Given the description of an element on the screen output the (x, y) to click on. 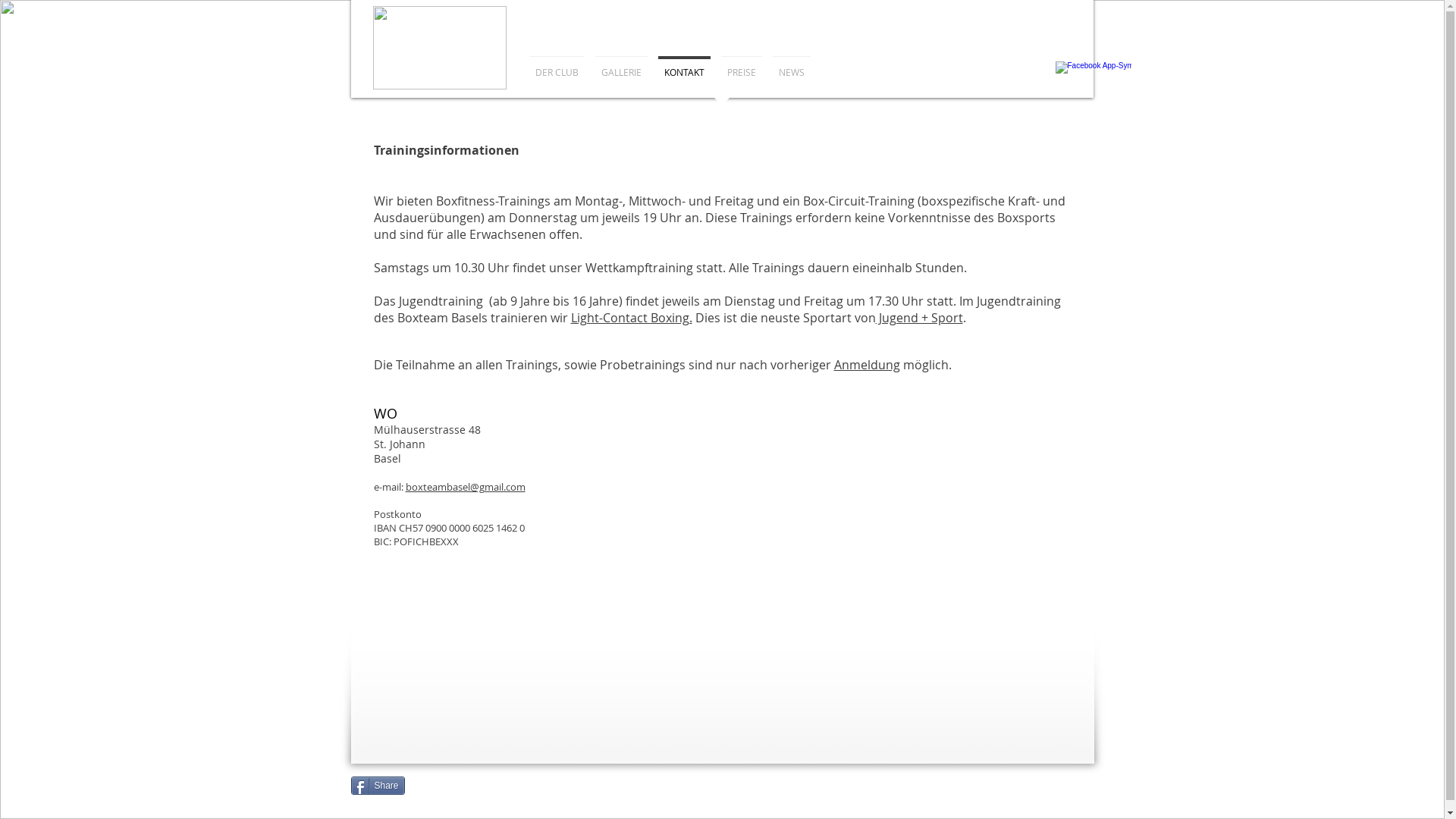
ABDESIGN Element type: text (1072, 779)
Jugend + Sport Element type: text (918, 317)
Light-Contact Boxing. Element type: text (630, 317)
KONTAKT Element type: text (683, 65)
PREISE Element type: text (741, 65)
DER CLUB Element type: text (556, 65)
GALLERIE Element type: text (620, 65)
NEWS Element type: text (791, 65)
Share Element type: text (377, 785)
boxteambasel@gmail.com Element type: text (464, 486)
Google Maps Element type: hover (840, 583)
Anmeldung Element type: text (867, 364)
